Given the description of an element on the screen output the (x, y) to click on. 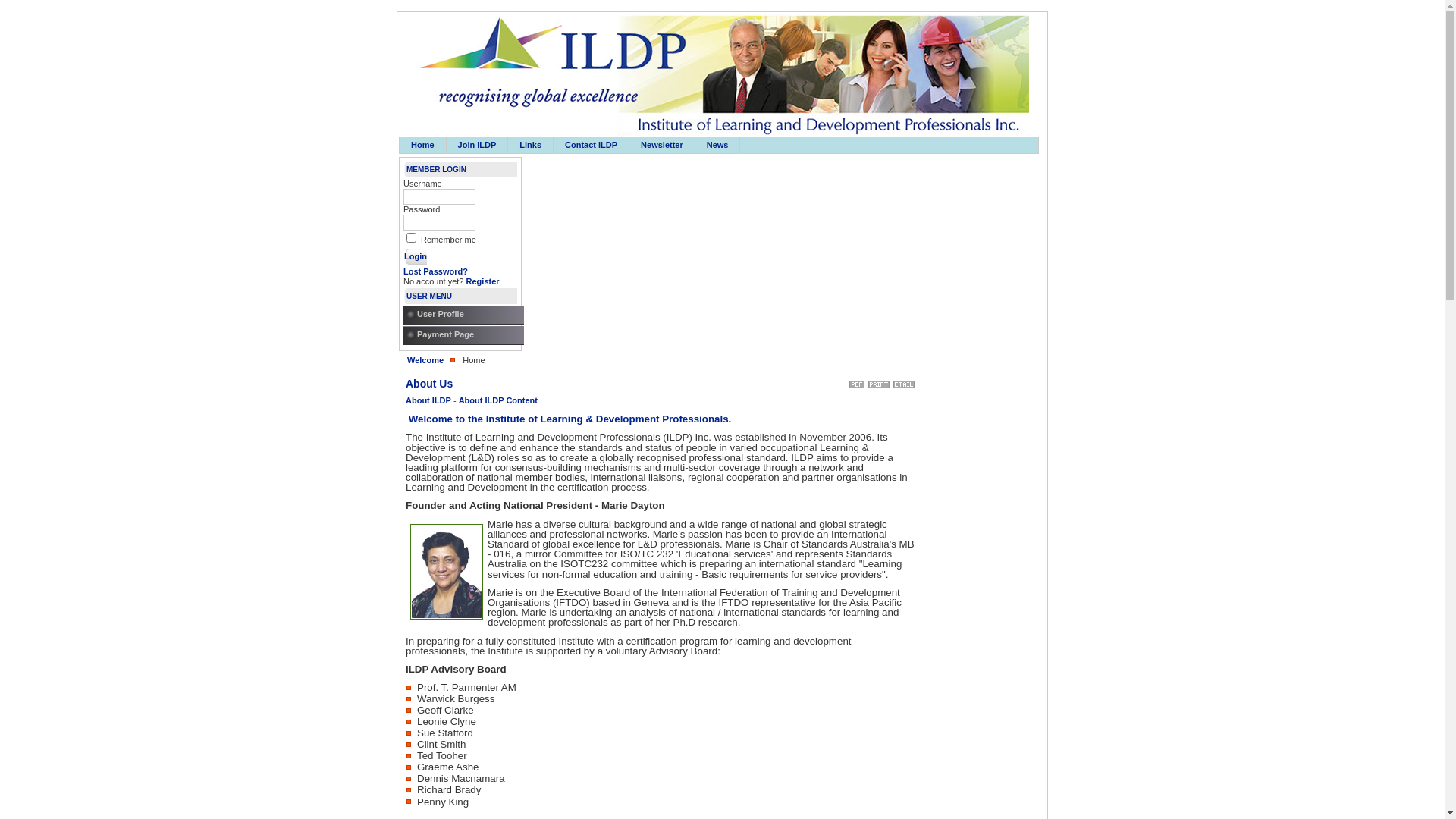
Contact ILDP Element type: text (590, 145)
Payment Page Element type: text (466, 335)
News Element type: text (717, 145)
E-mail Element type: hover (903, 380)
About ILDP Content Element type: text (497, 399)
About ILDP Element type: text (428, 399)
PDF Element type: hover (856, 380)
Print Element type: hover (878, 380)
Join ILDP Element type: text (477, 145)
Register Element type: text (482, 280)
mariePic.jpg Element type: hover (446, 572)
Links Element type: text (530, 145)
Newsletter Element type: text (661, 145)
Welcome Element type: text (425, 359)
User Profile Element type: text (466, 314)
Lost Password? Element type: text (435, 271)
Login Element type: text (415, 256)
Home Element type: text (422, 145)
